Given the description of an element on the screen output the (x, y) to click on. 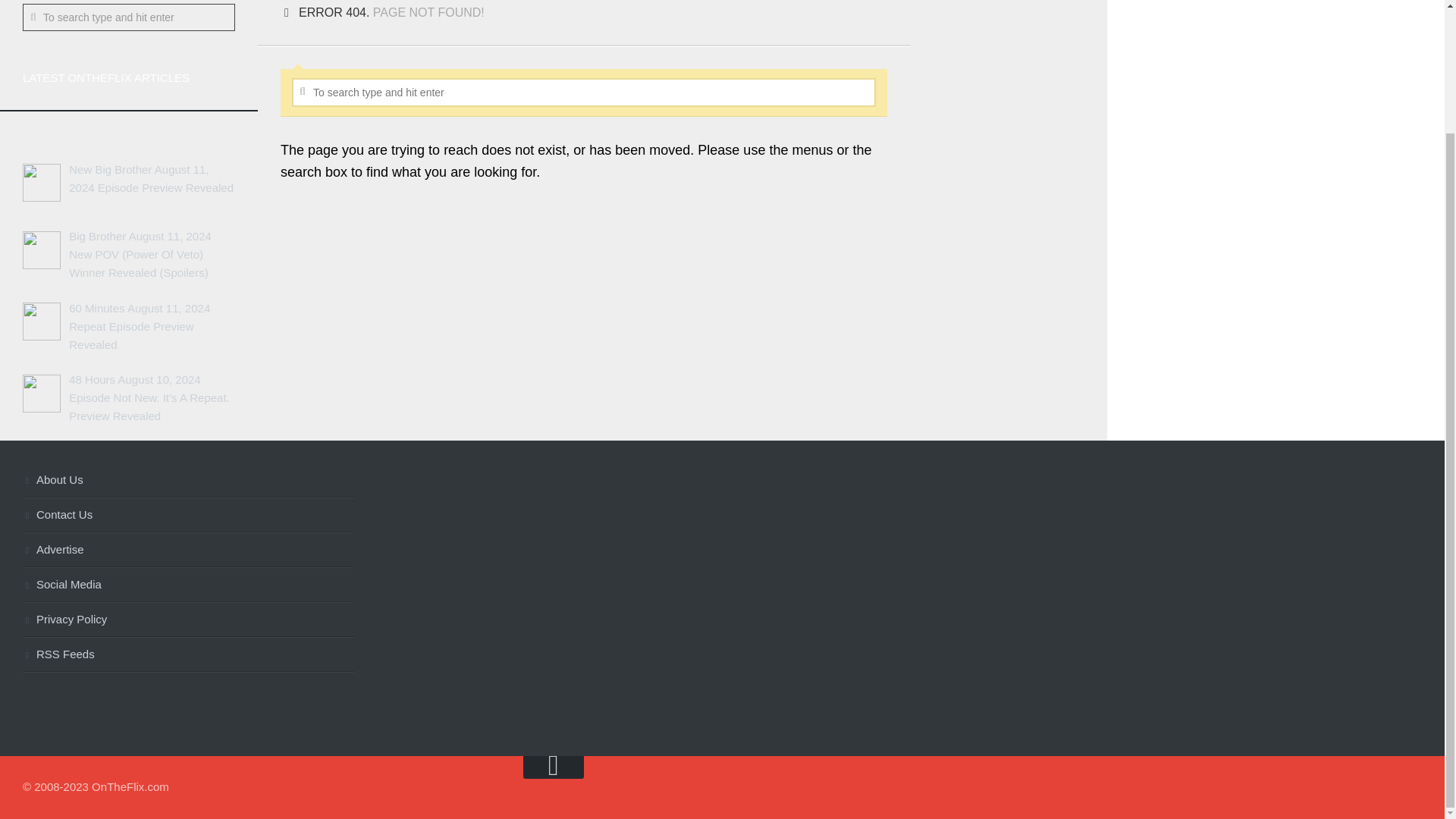
Contact Us (188, 515)
Social Media (188, 585)
Privacy Policy (188, 620)
To search type and hit enter (128, 17)
Advertise (188, 550)
New Big Brother August 11, 2024 Episode Preview Revealed (150, 178)
60 Minutes August 11, 2024 Repeat Episode Preview Revealed (138, 326)
About Us (188, 480)
To search type and hit enter (584, 92)
To search type and hit enter (584, 92)
